Given the description of an element on the screen output the (x, y) to click on. 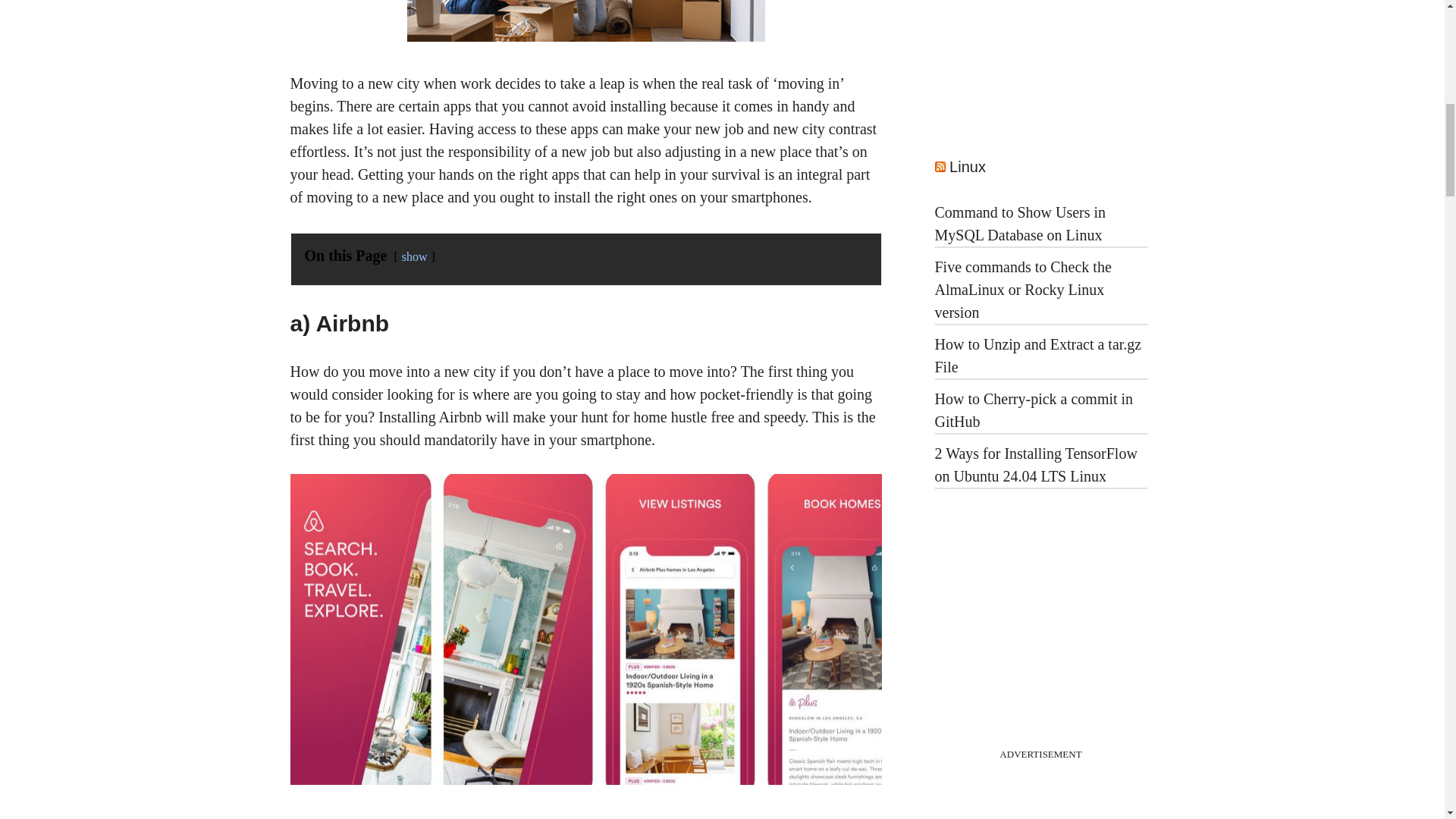
show (414, 256)
Scroll back to top (1406, 720)
